Given the description of an element on the screen output the (x, y) to click on. 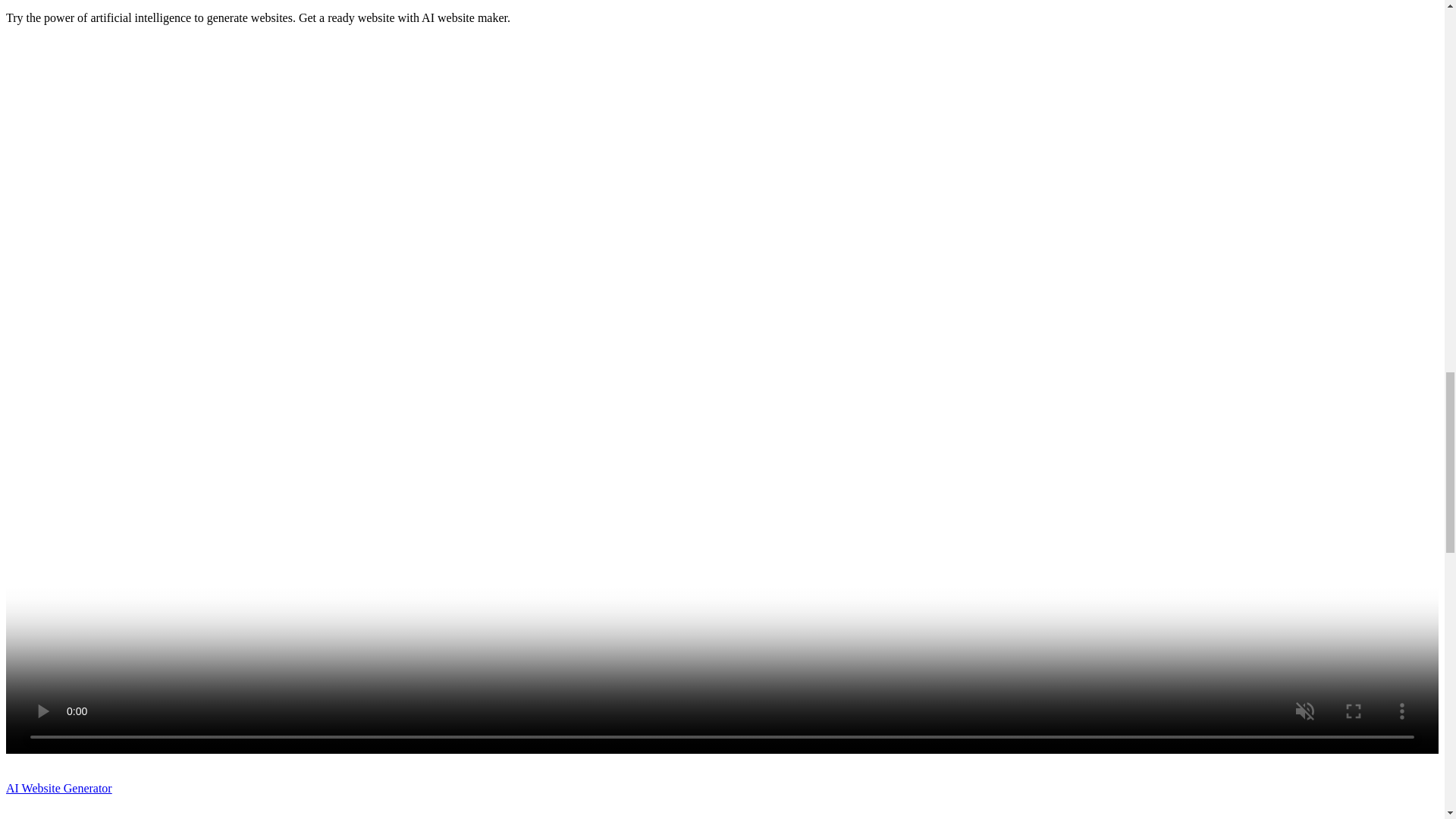
AI Website Generator (58, 788)
